Given the description of an element on the screen output the (x, y) to click on. 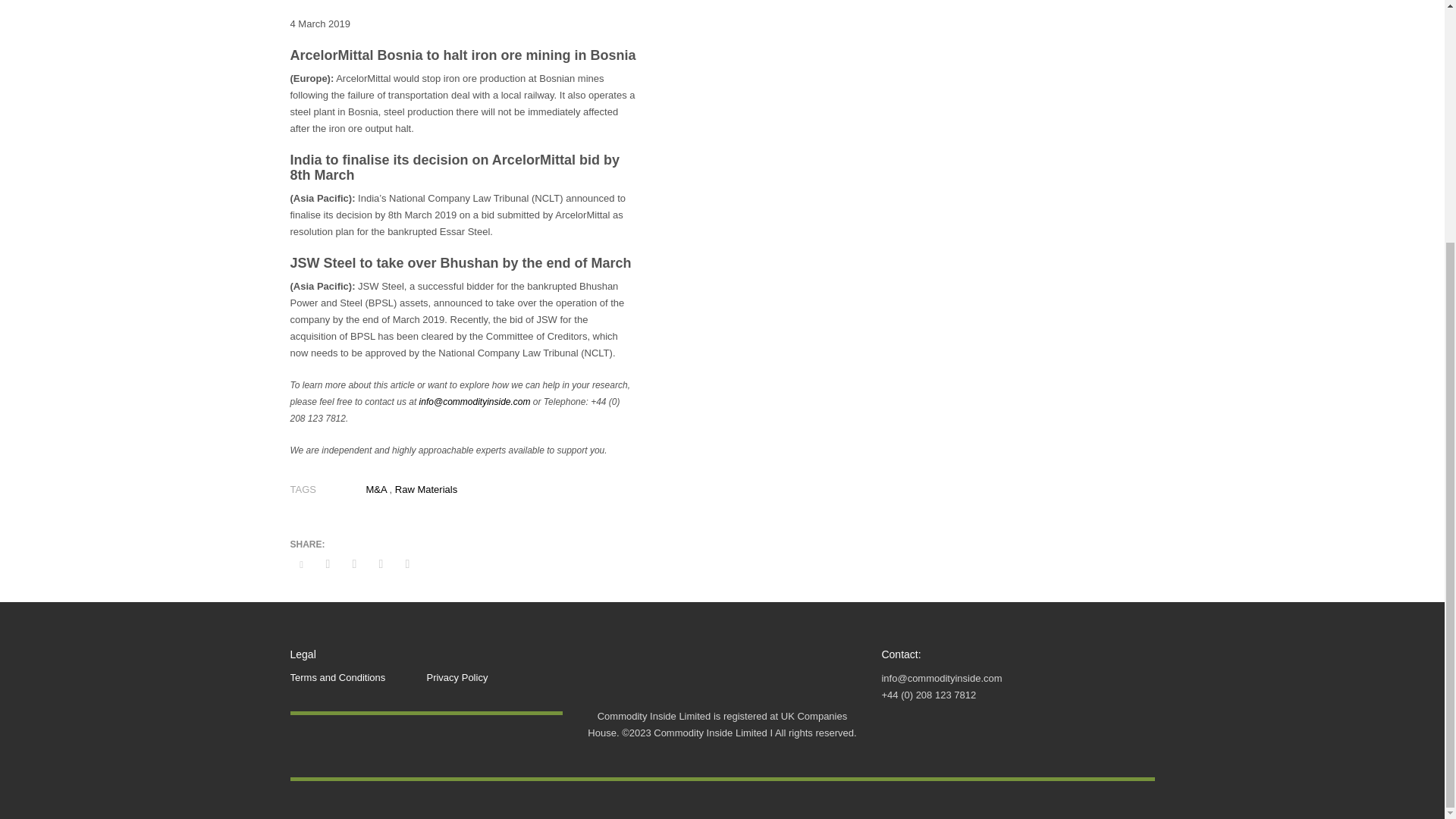
SHARE ON TWITTER (301, 564)
SHARE ON MAIL (407, 563)
Raw Materials (425, 489)
SHARE ON FACEBOOK (328, 563)
SHARE ON GPLUS (353, 563)
SHARE ON PINTEREST (381, 563)
